Given the description of an element on the screen output the (x, y) to click on. 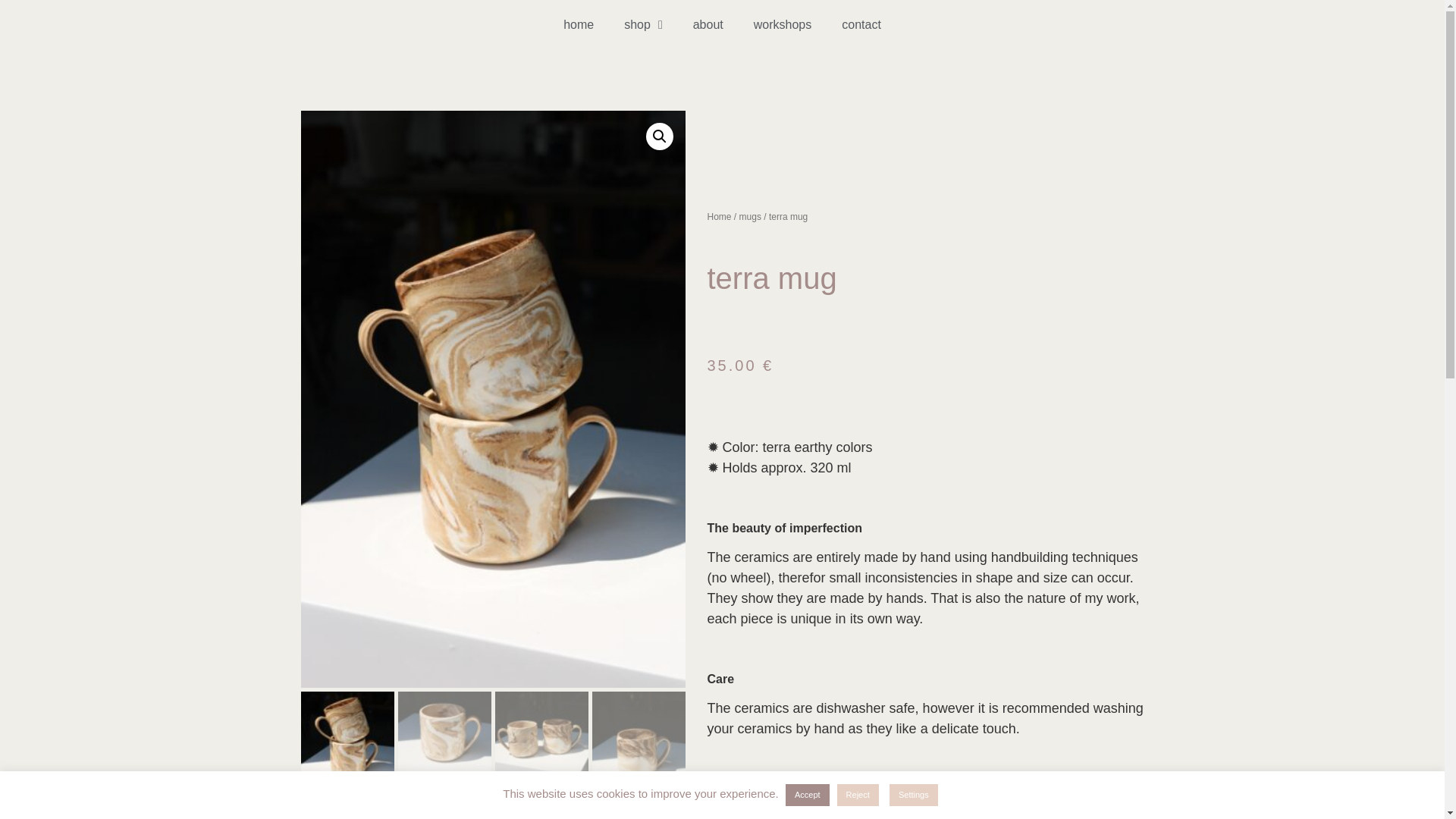
contact (861, 24)
mugs (750, 216)
workshops (782, 24)
shop (643, 24)
Home (718, 216)
about (708, 24)
home (578, 24)
